Given the description of an element on the screen output the (x, y) to click on. 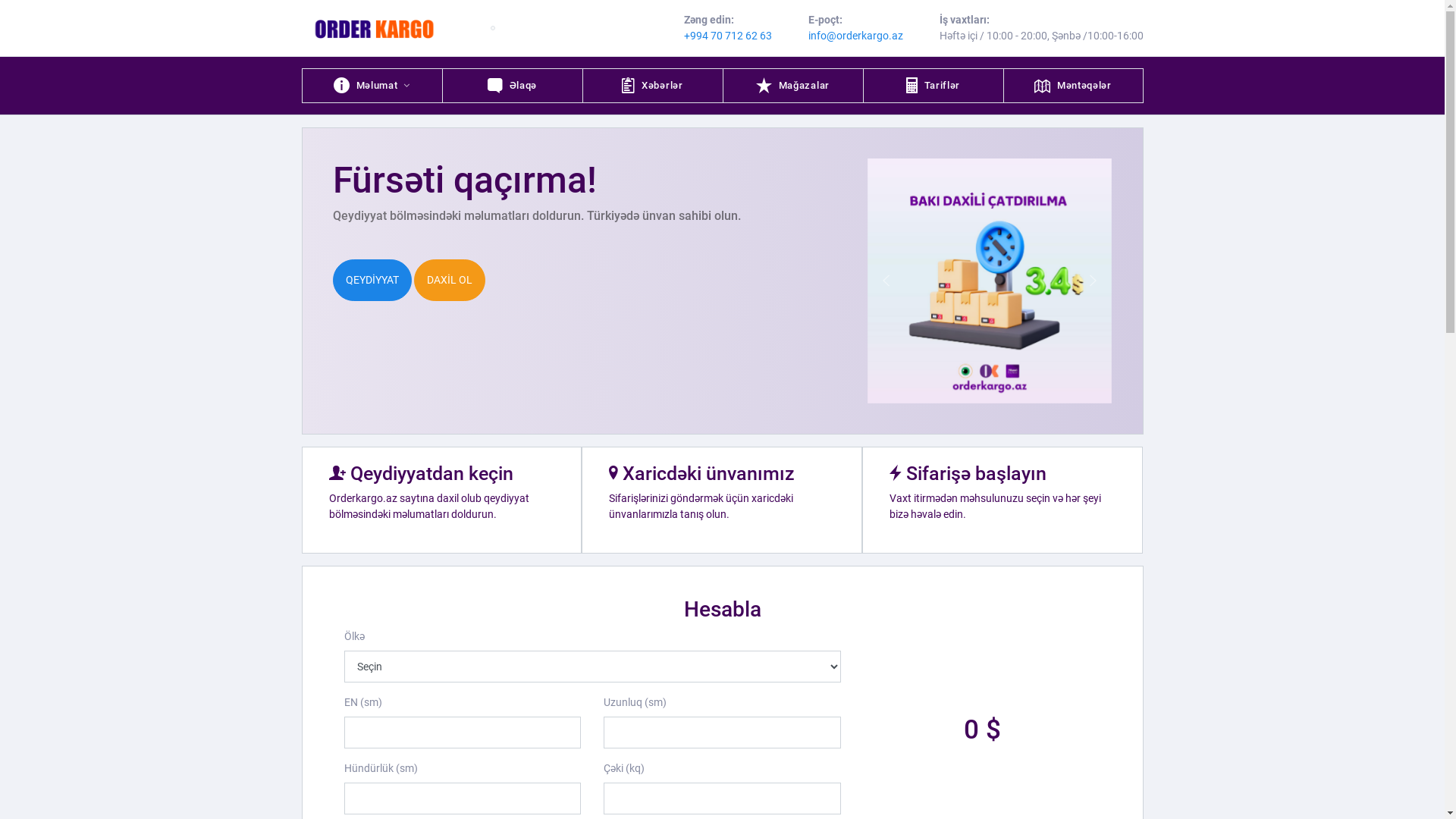
Previous Element type: text (885, 280)
+994 70 712 62 63 Element type: text (727, 35)
Next Element type: text (1093, 280)
info@orderkargo.az Element type: text (855, 35)
